Given the description of an element on the screen output the (x, y) to click on. 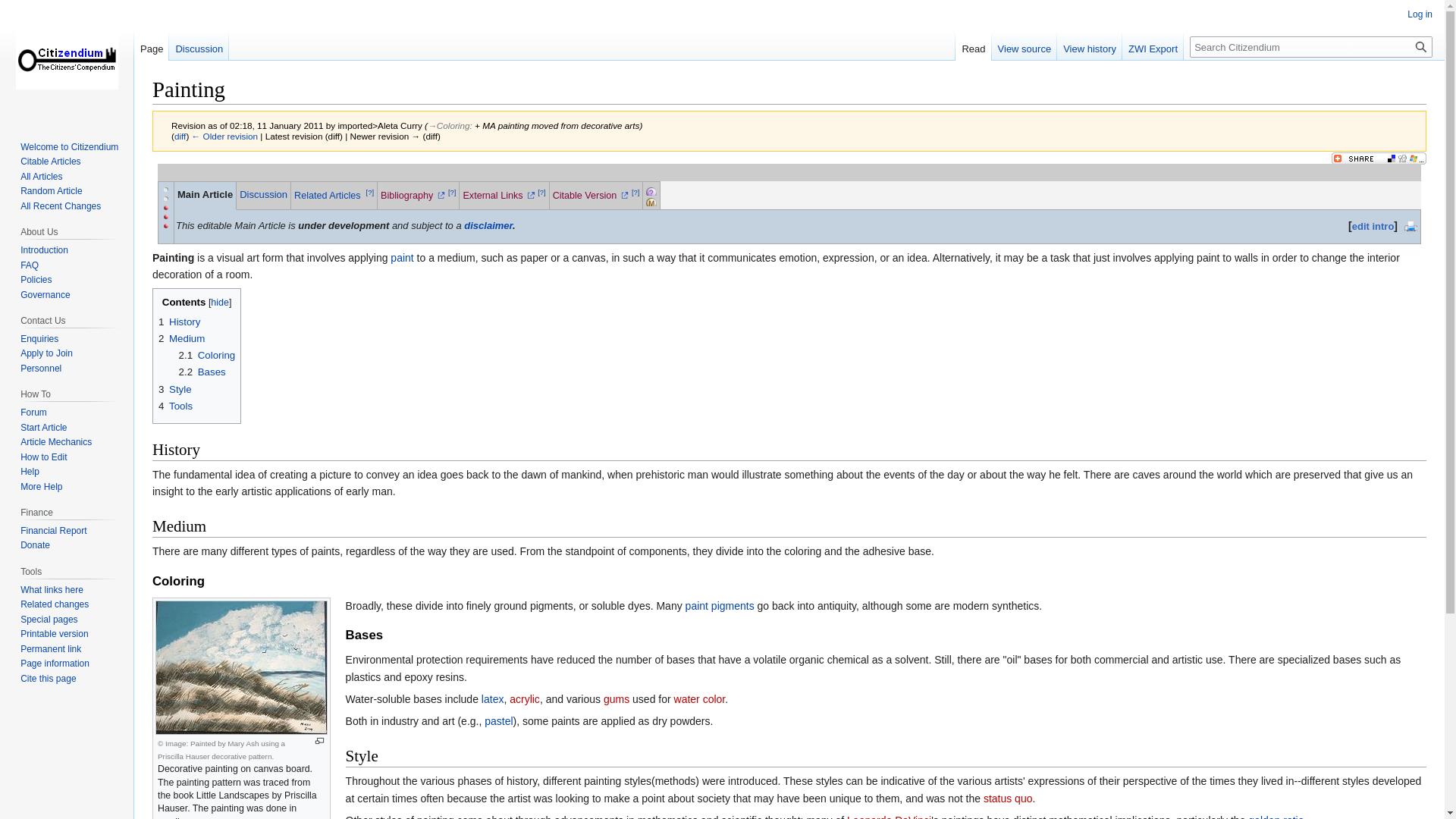
CZ:Subpages (666, 190)
Related Articles (328, 195)
Go To Page (1420, 46)
edit intro (1373, 225)
1 History (179, 321)
2 Medium (181, 337)
Go To Page (1420, 46)
2.1 Coloring (207, 355)
latex (492, 698)
Discussion (263, 194)
Search (1420, 46)
pastel (498, 720)
Talk:Painting (263, 194)
4 Tools (175, 405)
